Given the description of an element on the screen output the (x, y) to click on. 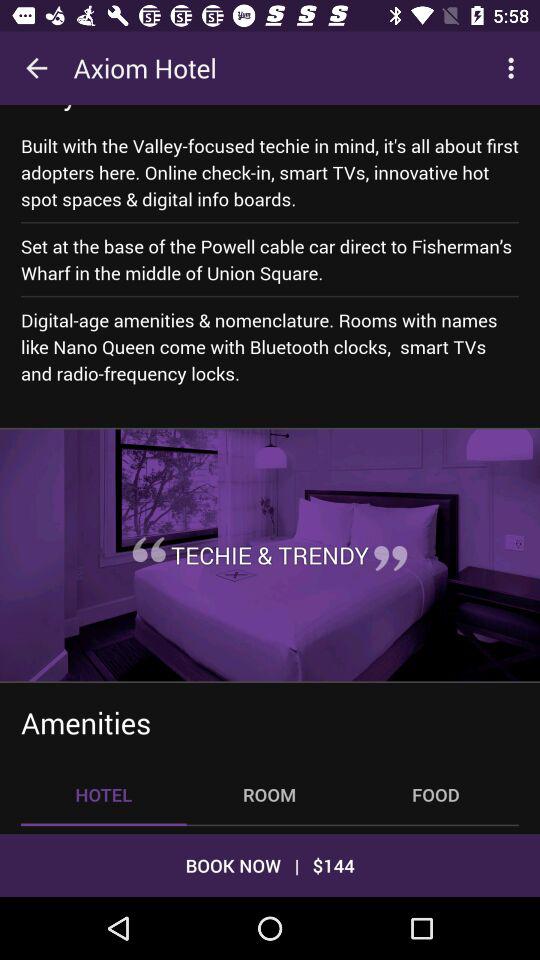
turn off why we like item (115, 108)
